Given the description of an element on the screen output the (x, y) to click on. 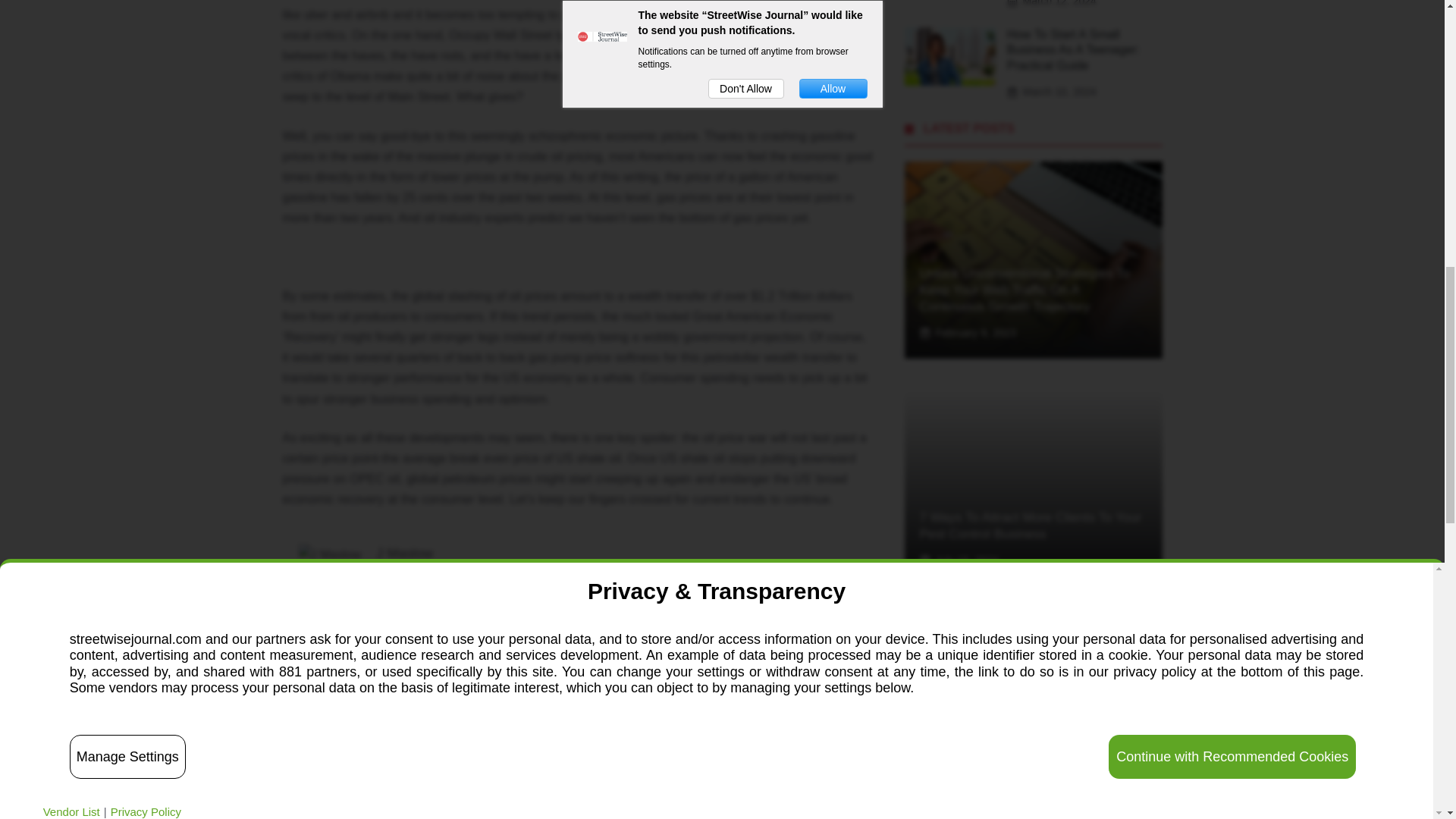
Scroll back to top (1406, 720)
J Maslow (403, 553)
How To Start A Small Business As A Teenager: Practical Guide (1073, 49)
7 Ways To Attract More Clients To Your Pest Control Business (1029, 525)
Women Deserve To Understand Their Bodies (1026, 753)
